Given the description of an element on the screen output the (x, y) to click on. 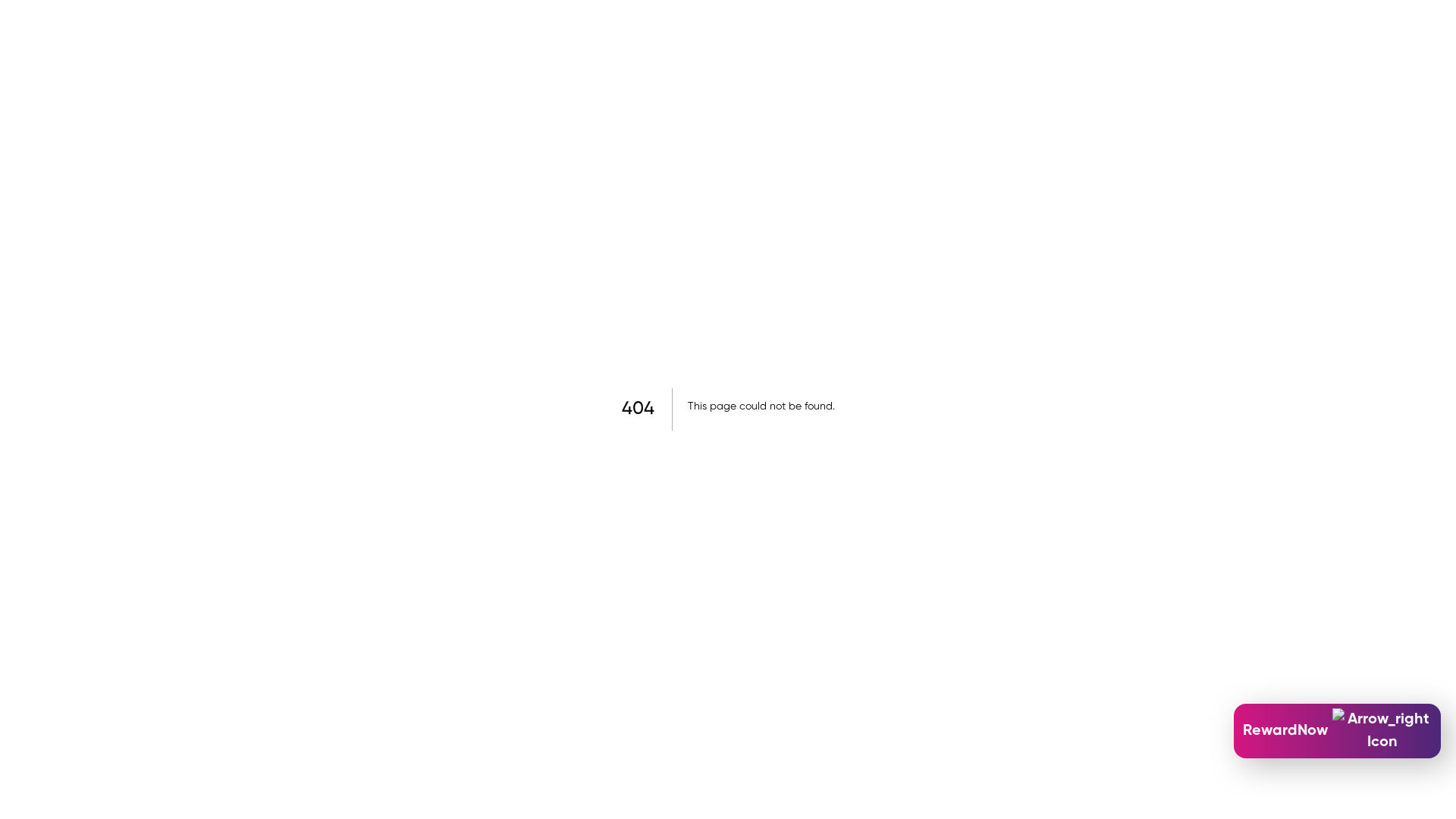
RewardNow Element type: text (1336, 730)
